Given the description of an element on the screen output the (x, y) to click on. 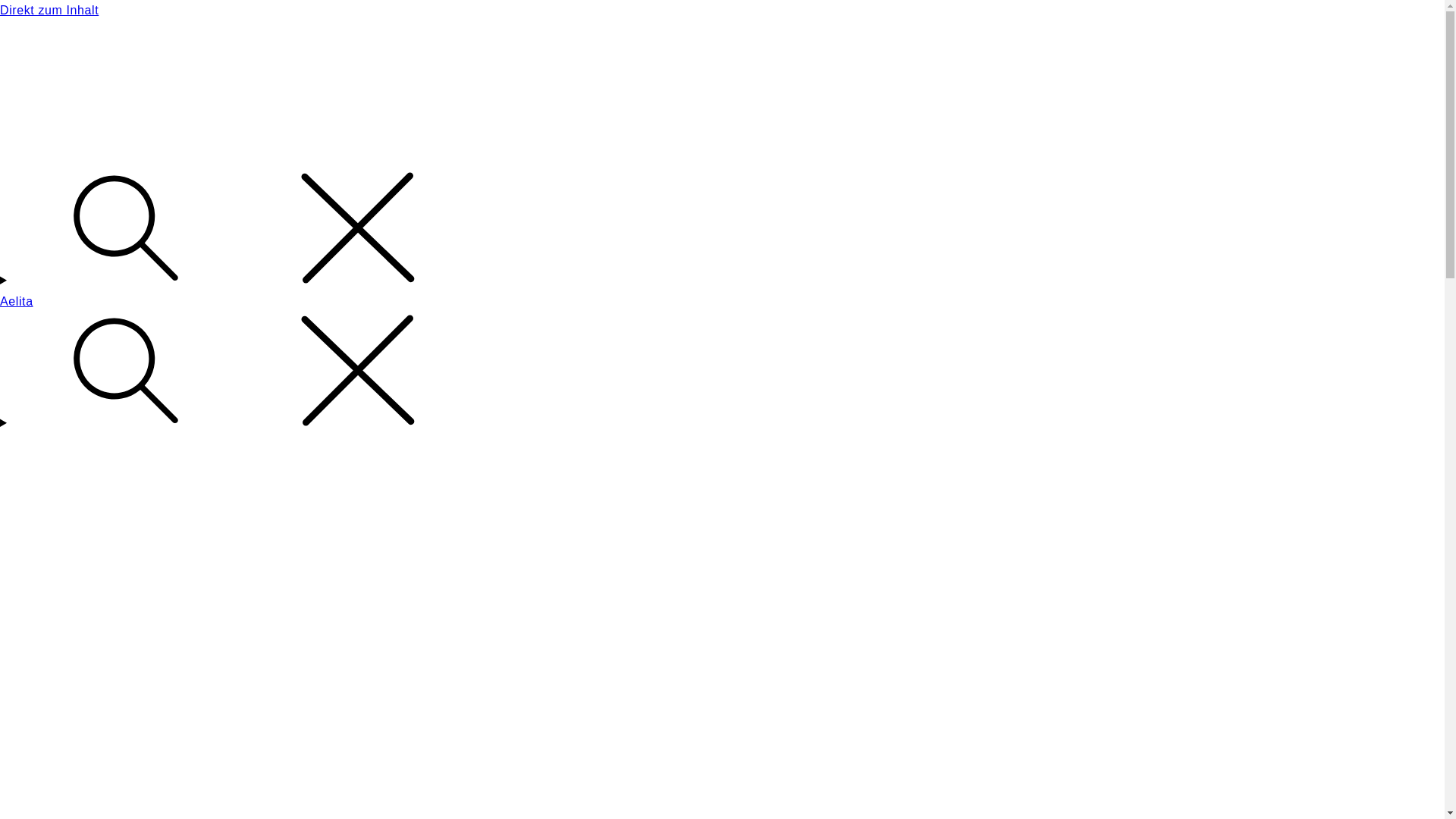
Aelita Element type: text (16, 300)
Direkt zum Inhalt Element type: text (722, 10)
